Given the description of an element on the screen output the (x, y) to click on. 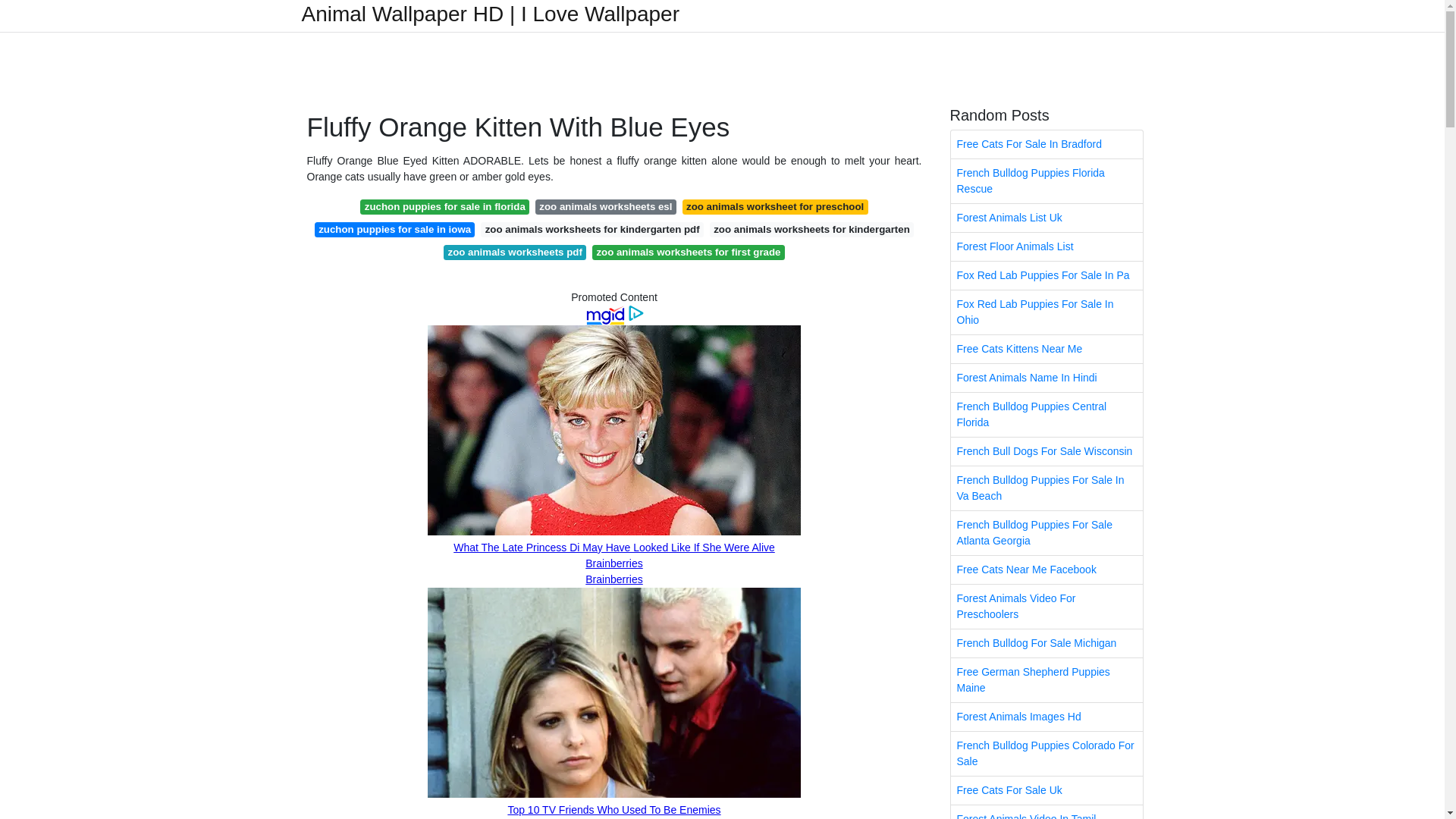
zoo animals worksheets esl (606, 206)
zoo animals worksheet for preschool (774, 206)
zoo animals worksheets for kindergarten (812, 229)
zuchon puppies for sale in iowa (395, 229)
Fox Red Lab Puppies For Sale In Pa (1046, 275)
zuchon puppies for sale in florida (444, 206)
French Bulldog Puppies Central Florida (1046, 414)
Fox Red Lab Puppies For Sale In Ohio (1046, 312)
French Bulldog Puppies Florida Rescue (1046, 180)
zoo animals worksheets for first grade (688, 252)
zoo animals worksheets for kindergarten pdf (591, 229)
Forest Animals Name In Hindi (1046, 377)
Free Cats Kittens Near Me (1046, 348)
French Bull Dogs For Sale Wisconsin (1046, 451)
Forest Floor Animals List (1046, 246)
